Given the description of an element on the screen output the (x, y) to click on. 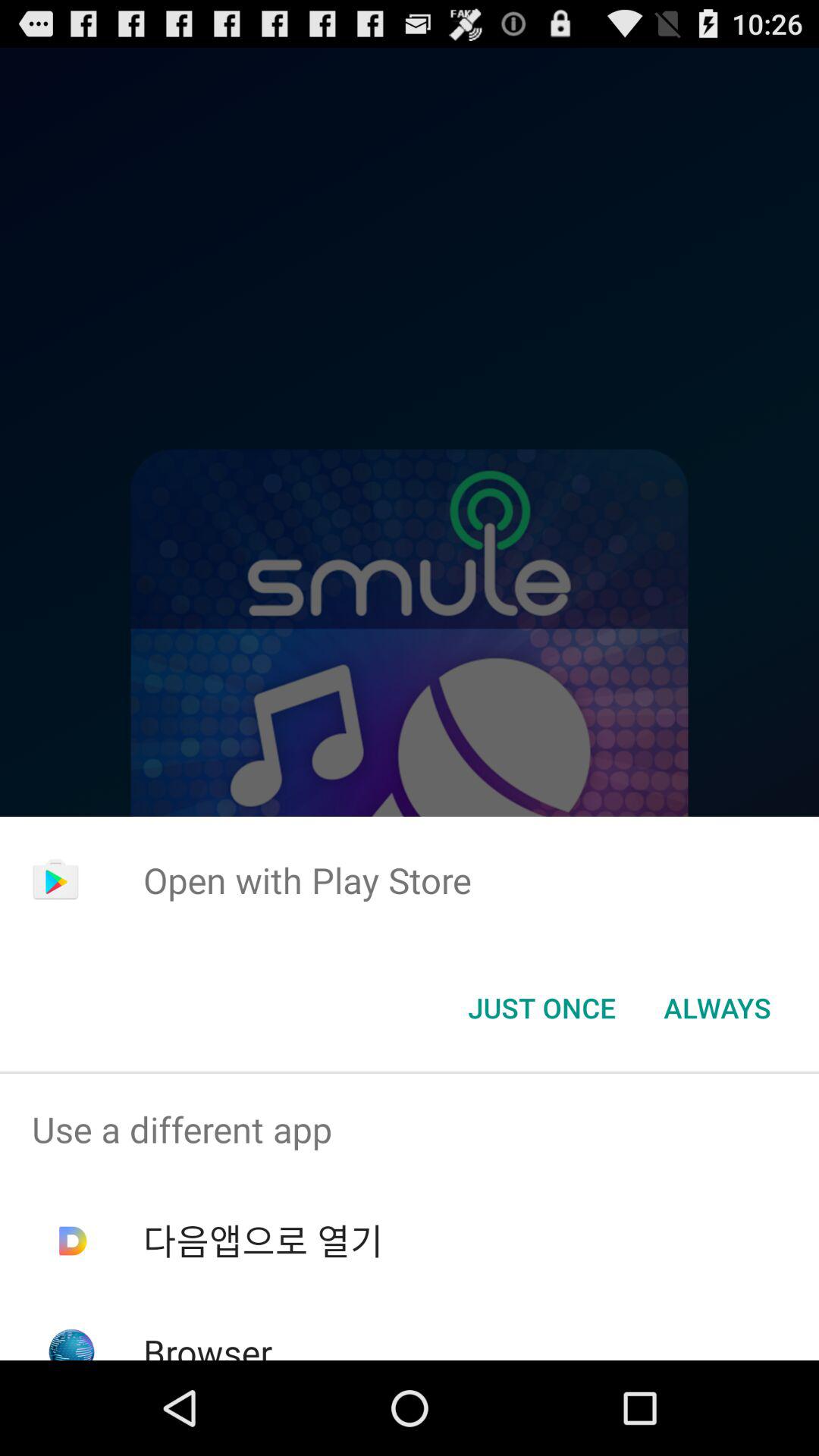
turn off the item below the open with play icon (717, 1007)
